Given the description of an element on the screen output the (x, y) to click on. 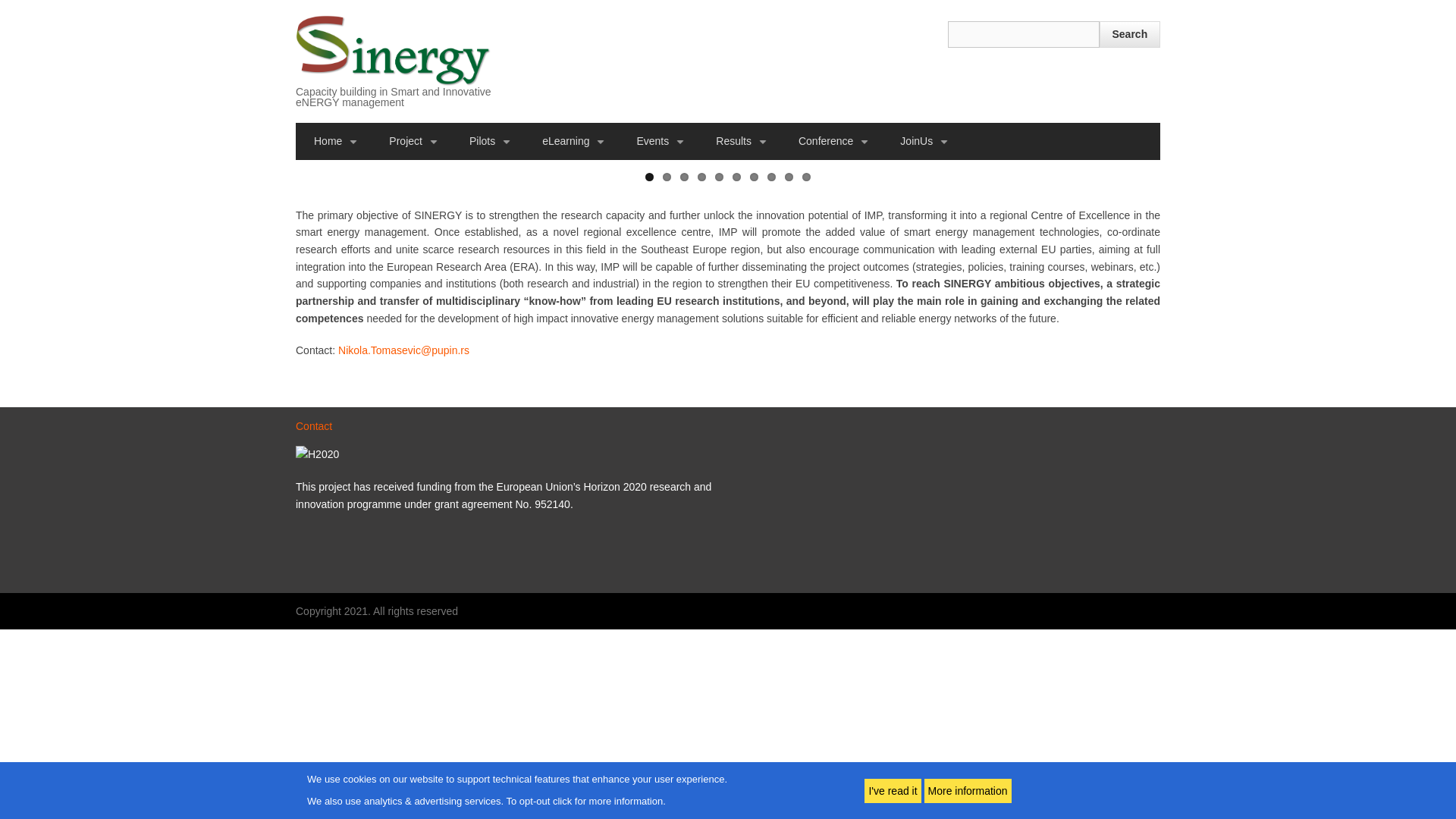
Home (393, 50)
Search (1129, 34)
Enter the terms you wish to search for. (1023, 34)
Search (1129, 34)
